Given the description of an element on the screen output the (x, y) to click on. 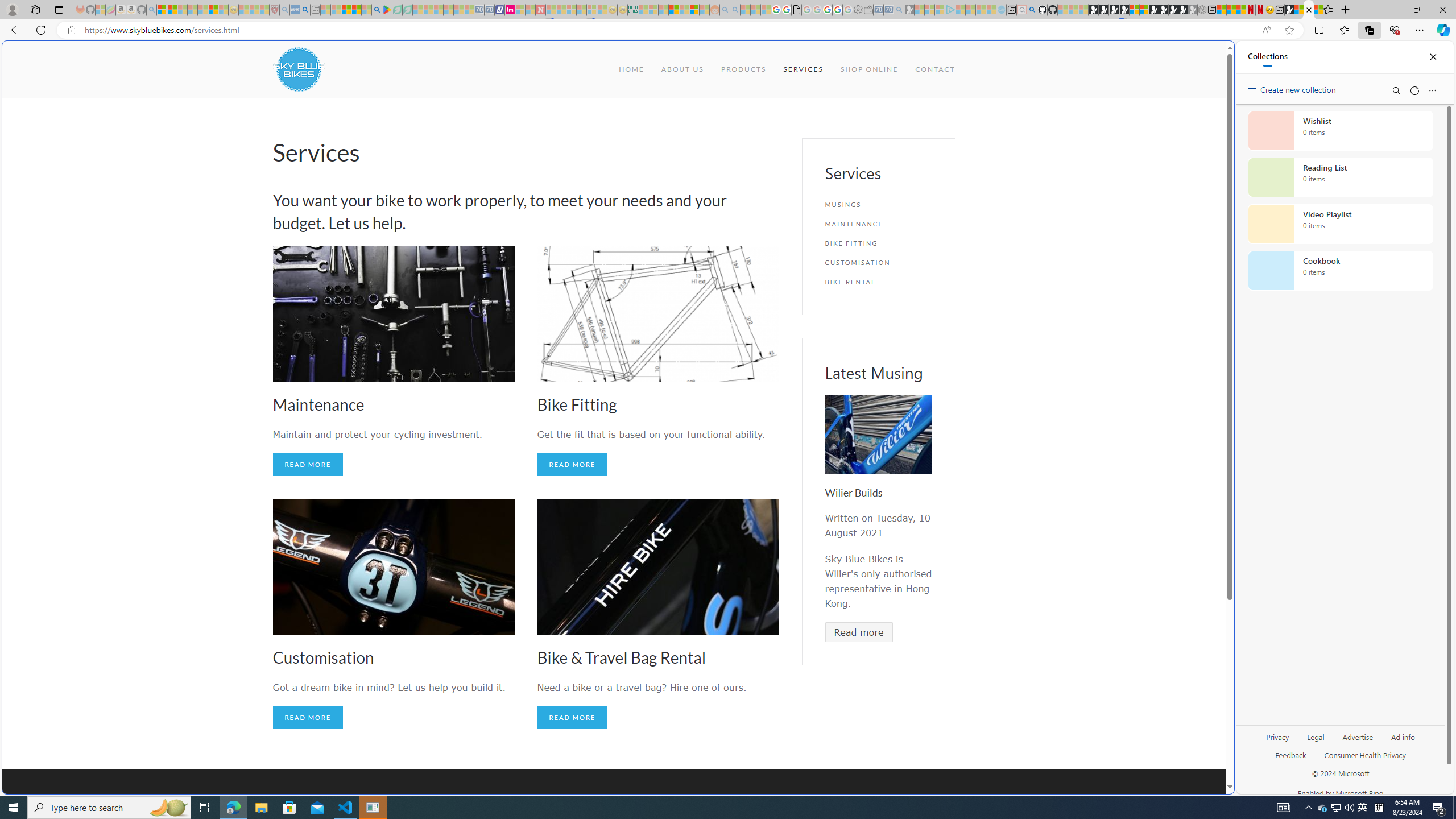
SHOP ONLINE (869, 68)
MUSINGS (878, 204)
